Given the description of an element on the screen output the (x, y) to click on. 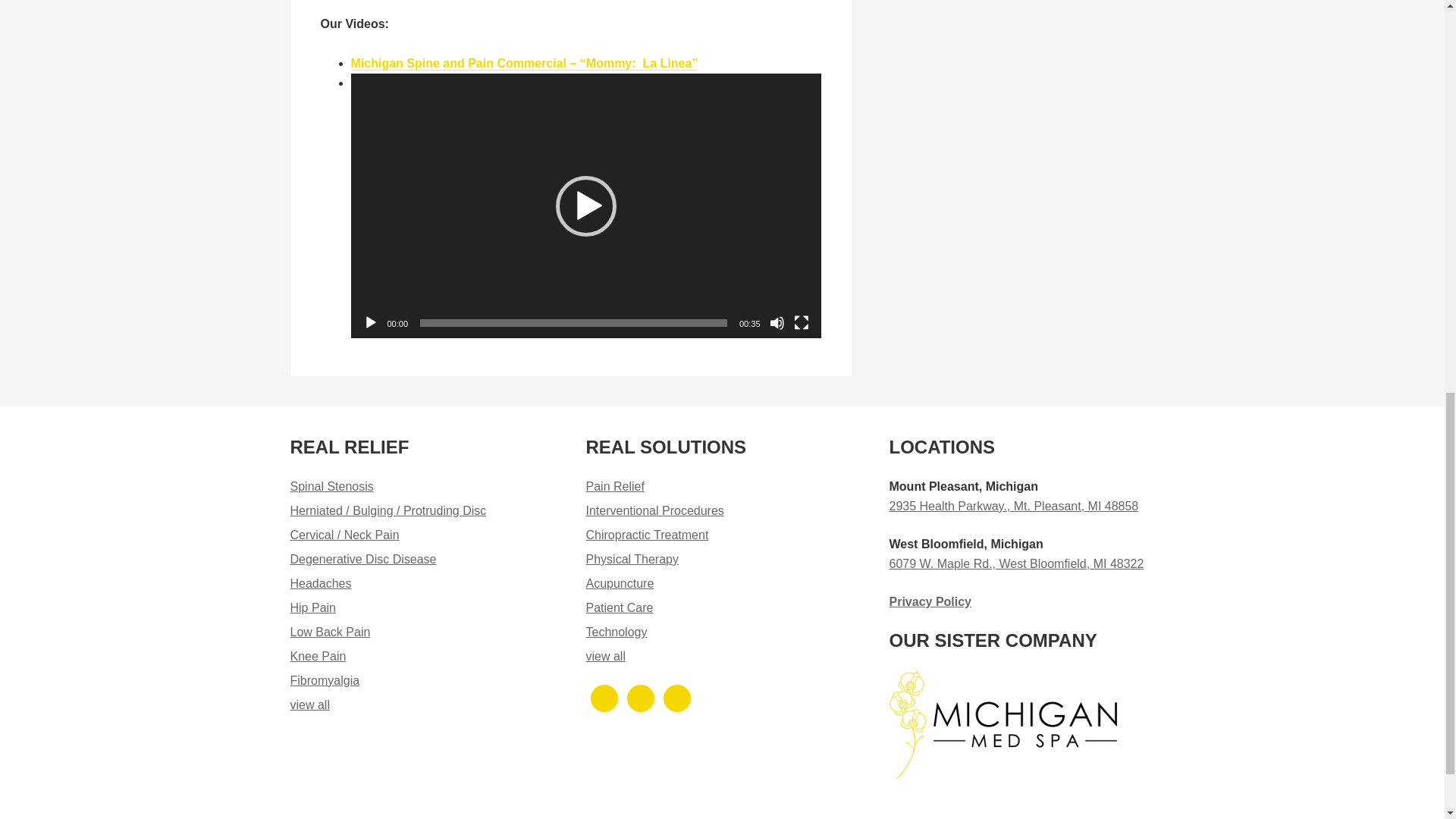
Play (369, 322)
Mute (776, 322)
Fibromyalgia (324, 680)
Headaches (319, 583)
Fullscreen (800, 322)
Hip Pain (311, 607)
Real Pain, Real Solutions (309, 704)
Knee Pain (317, 656)
Degenerative Disc Disease (362, 558)
Spinal Stenosis (330, 486)
